Given the description of an element on the screen output the (x, y) to click on. 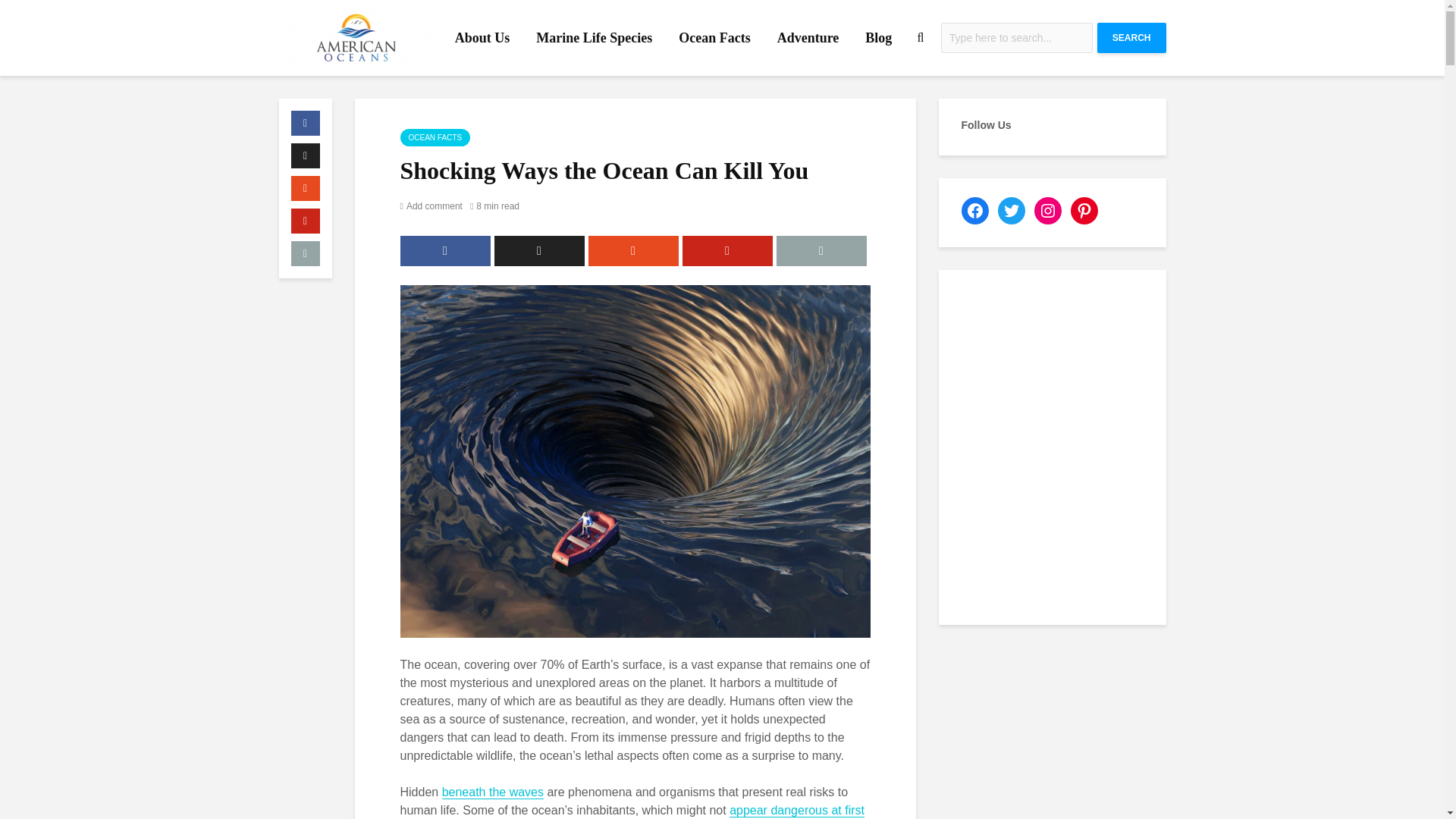
Ocean Facts (713, 37)
Marine Life Species (593, 37)
Blog (877, 37)
SEARCH (1131, 37)
Adventure (807, 37)
About Us (482, 37)
